Given the description of an element on the screen output the (x, y) to click on. 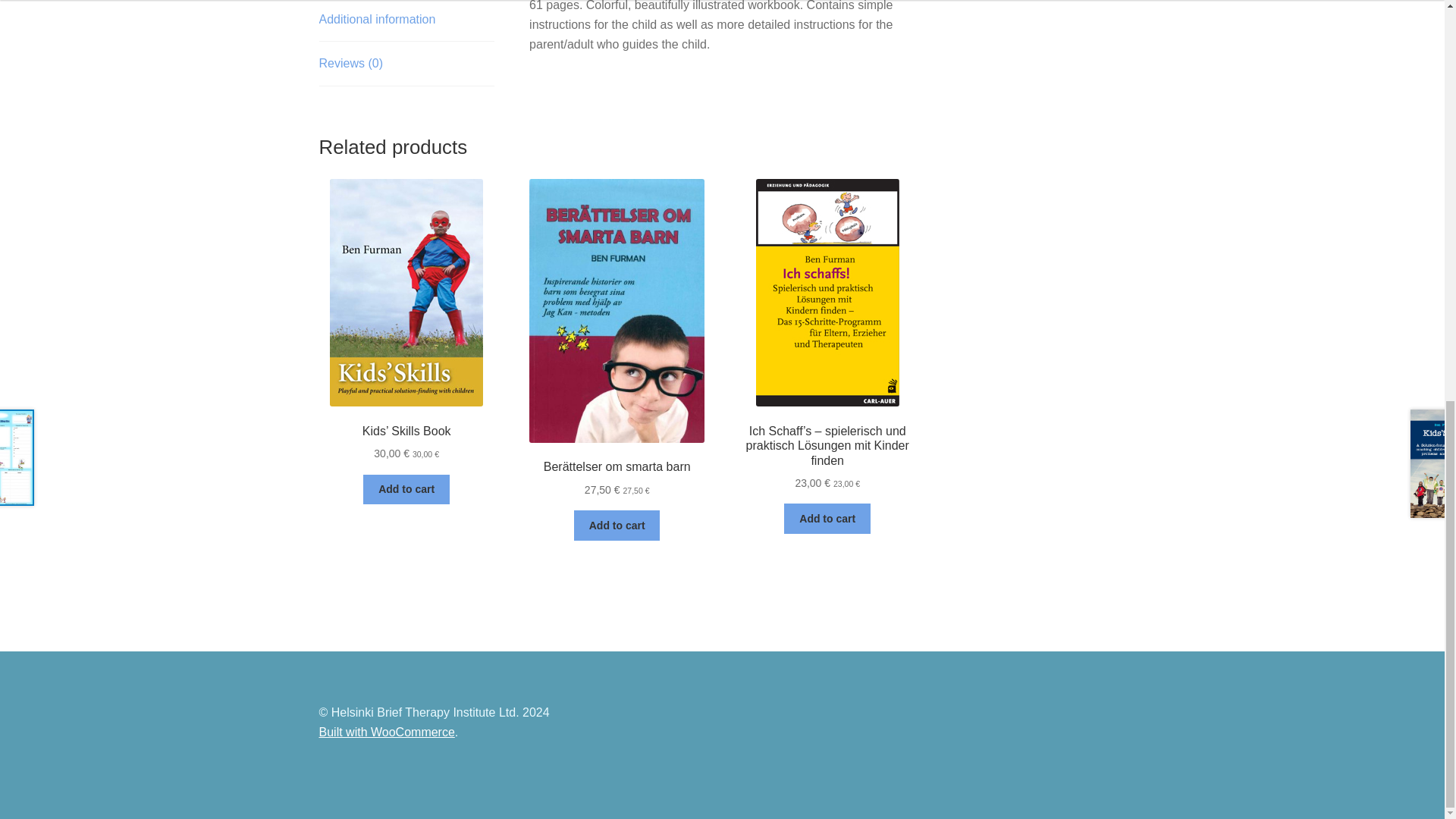
Additional information (406, 20)
Add to cart (405, 490)
Add to cart (617, 525)
Add to cart (827, 518)
WooCommerce - The Best eCommerce Platform for WordPress (386, 731)
